Given the description of an element on the screen output the (x, y) to click on. 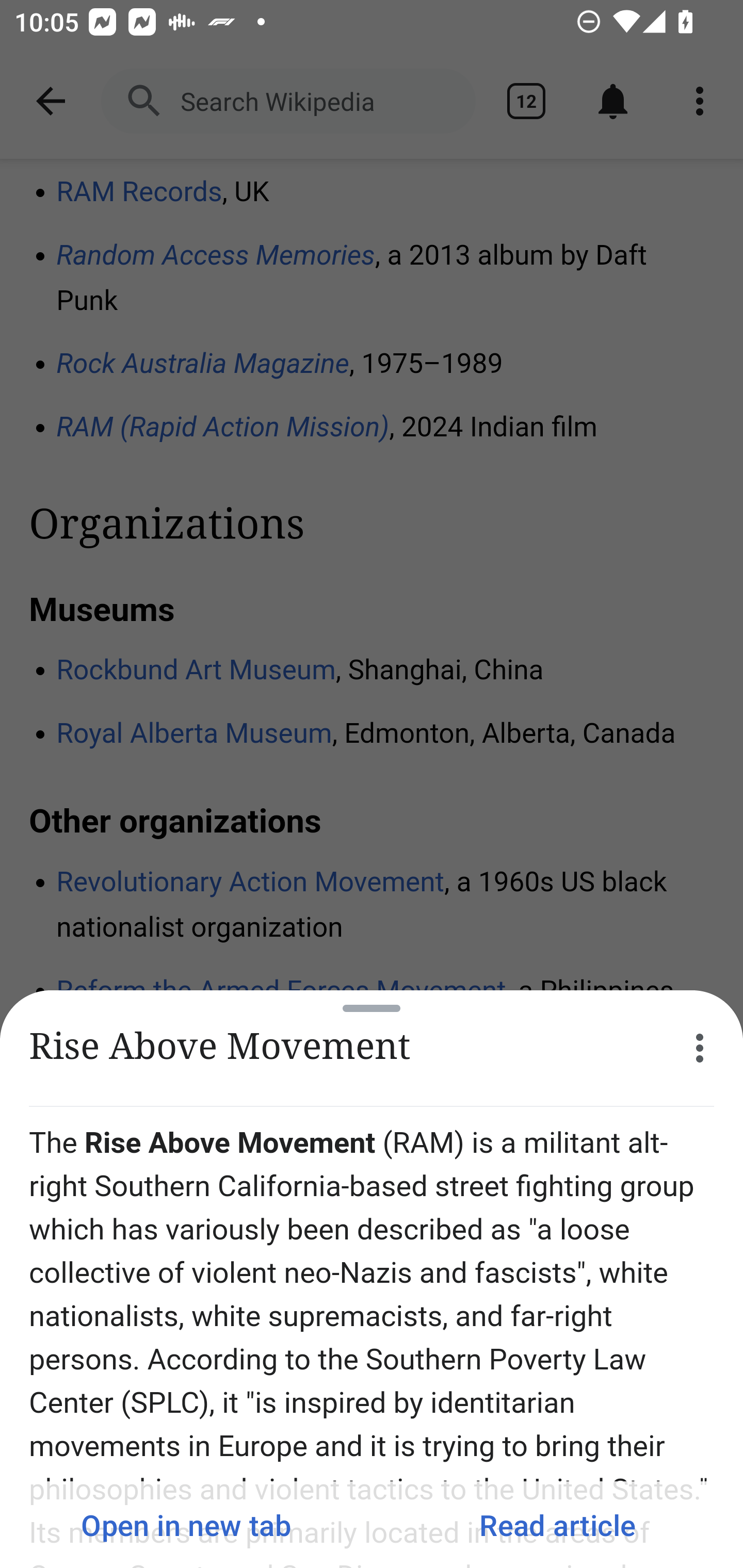
Rise Above Movement More options (371, 1047)
More options (699, 1048)
Open in new tab (185, 1524)
Read article (557, 1524)
